Given the description of an element on the screen output the (x, y) to click on. 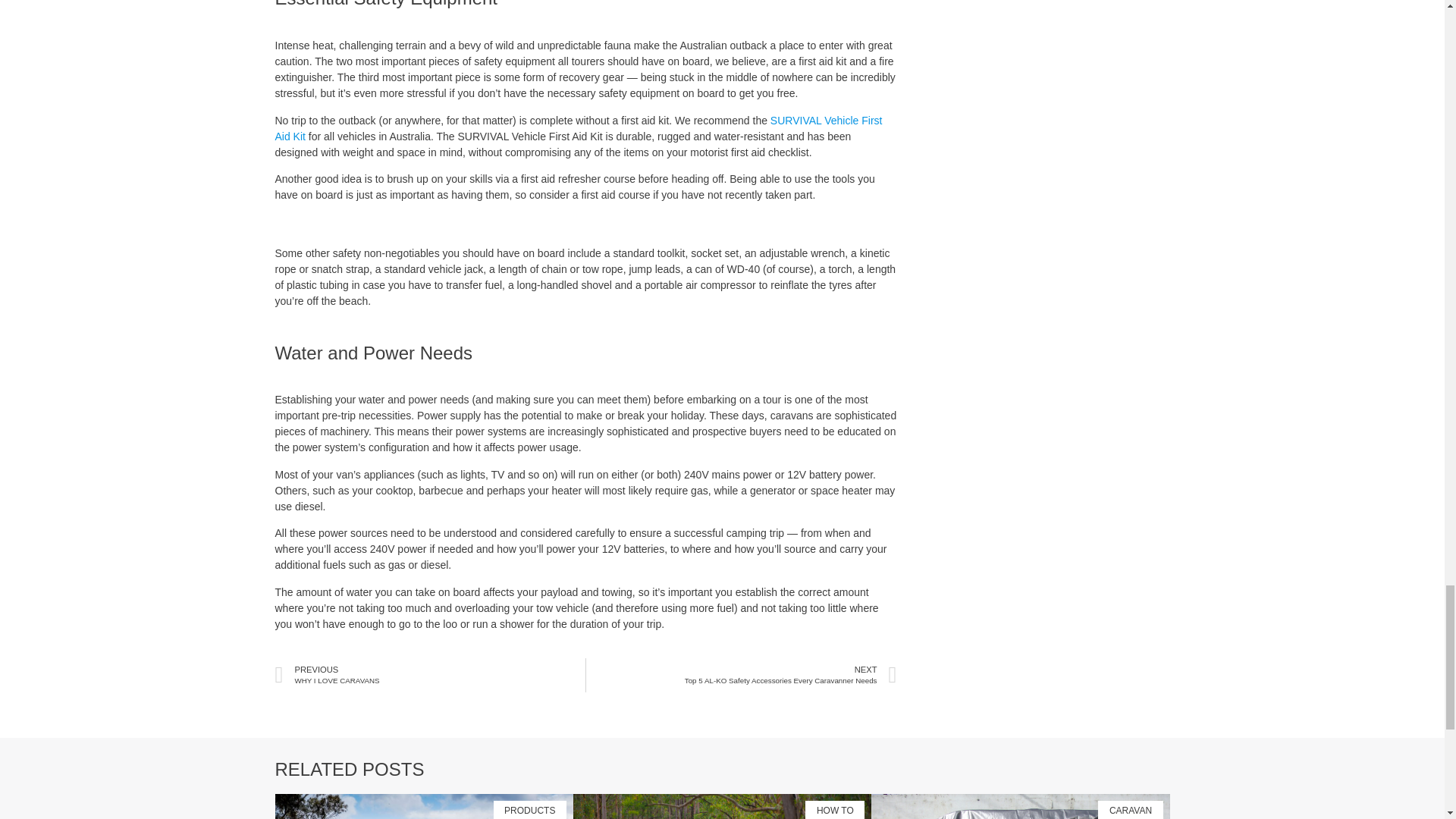
SURVIVAL Vehicle First Aid Kit (790, 675)
